Given the description of an element on the screen output the (x, y) to click on. 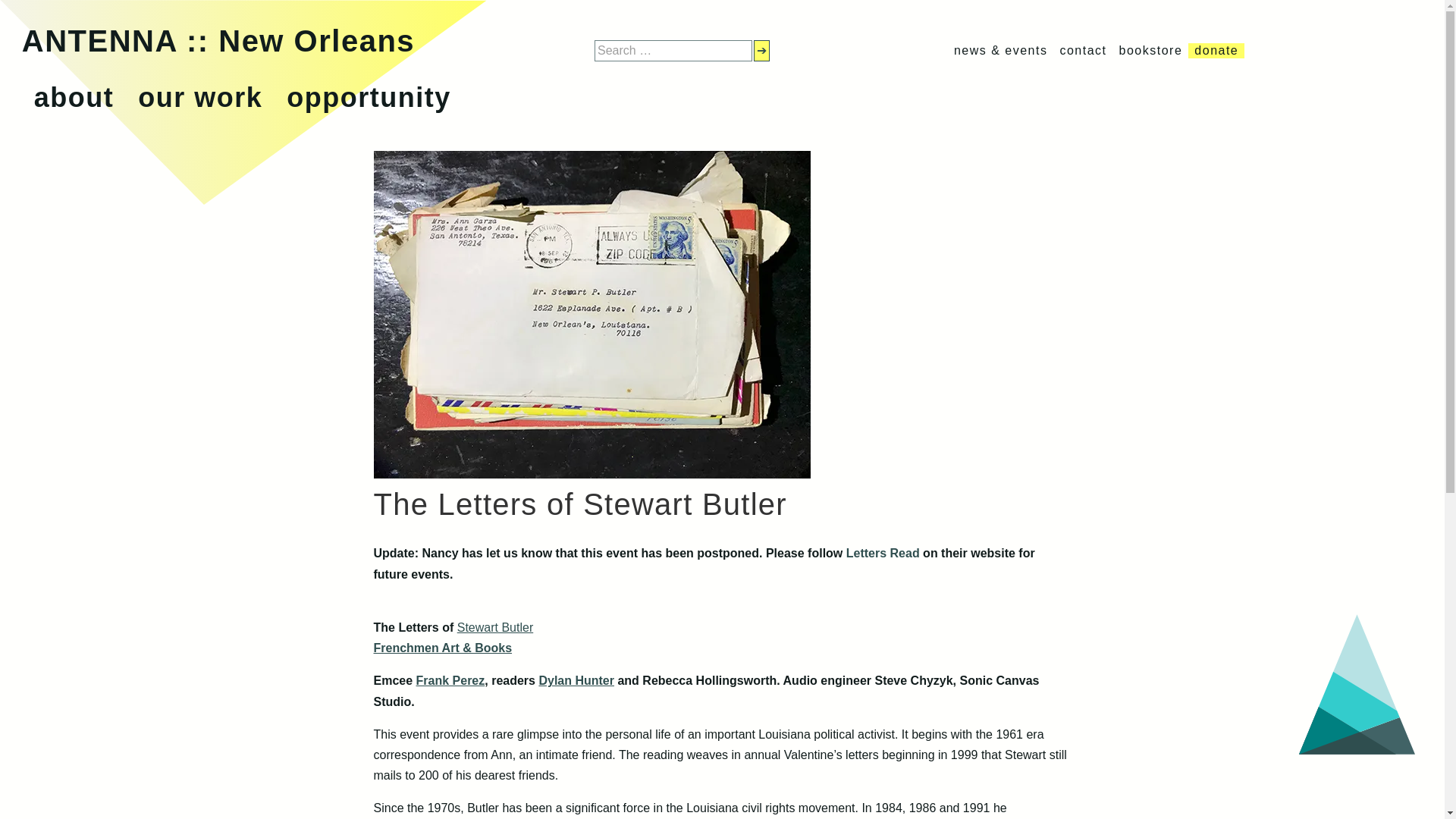
opportunity (367, 97)
Letters Read (882, 553)
Frank Perez (450, 680)
Antenna (217, 40)
Dylan Hunter (576, 680)
our work (200, 97)
about (73, 97)
ANTENNA :: New Orleans (217, 40)
The Letters of Stewart Butler (590, 473)
contact (1082, 50)
donate (1216, 50)
Stewart Butler (494, 626)
bookstore (1150, 50)
